Given the description of an element on the screen output the (x, y) to click on. 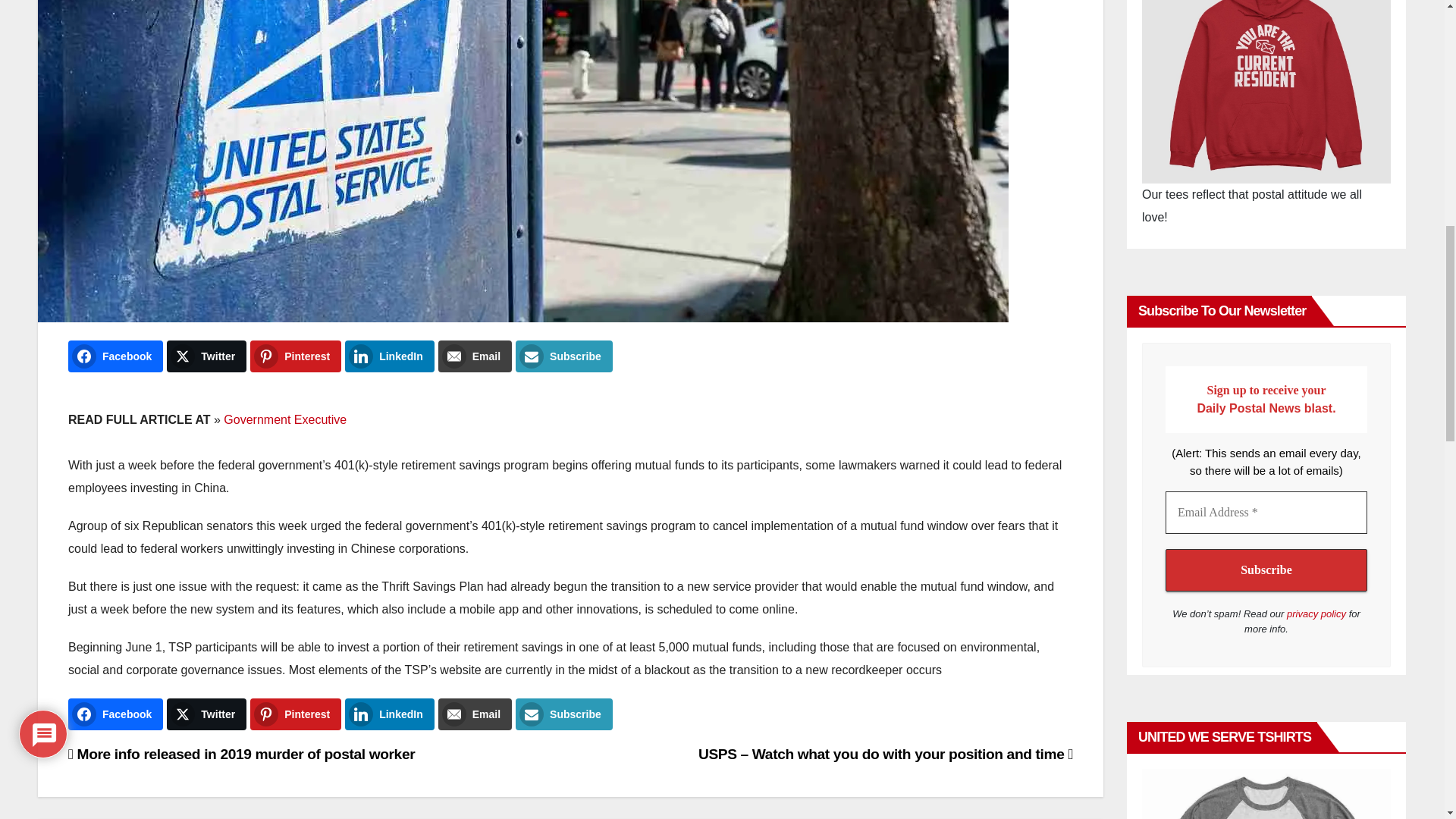
Subscribe (1266, 569)
Twitter (206, 356)
Subscribe (563, 714)
Pinterest (295, 714)
Facebook (115, 356)
Twitter (206, 714)
More info released in 2019 murder of postal worker (241, 754)
Subscribe (563, 356)
Share on Facebook (115, 356)
LinkedIn (389, 356)
Government Executive (285, 419)
LinkedIn (389, 714)
Share on Twitter (206, 356)
Pinterest (295, 356)
Email (475, 356)
